Given the description of an element on the screen output the (x, y) to click on. 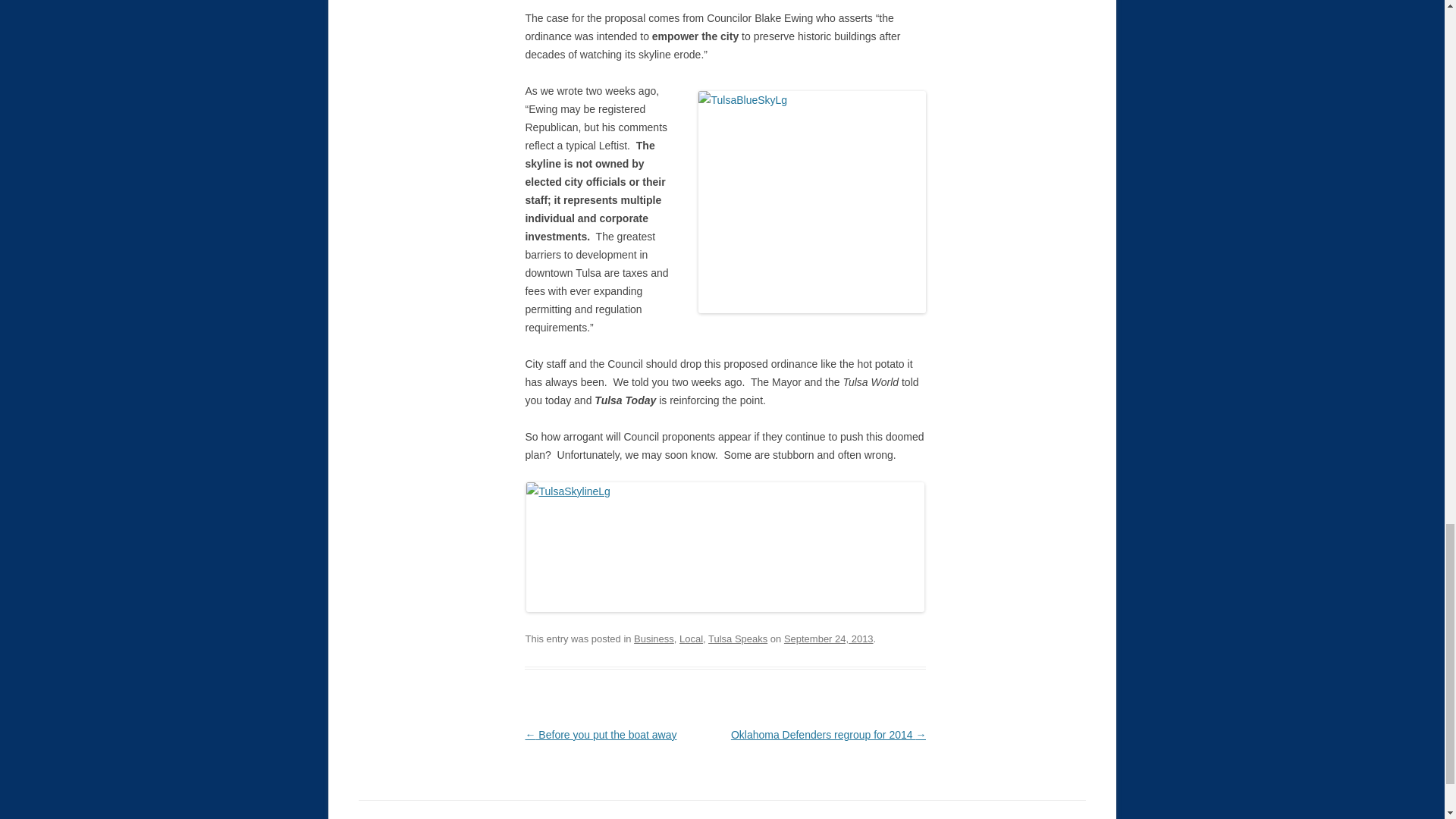
Business (653, 638)
Tulsa Speaks (737, 638)
Local (691, 638)
September 24, 2013 (828, 638)
4:16 pm (828, 638)
